Given the description of an element on the screen output the (x, y) to click on. 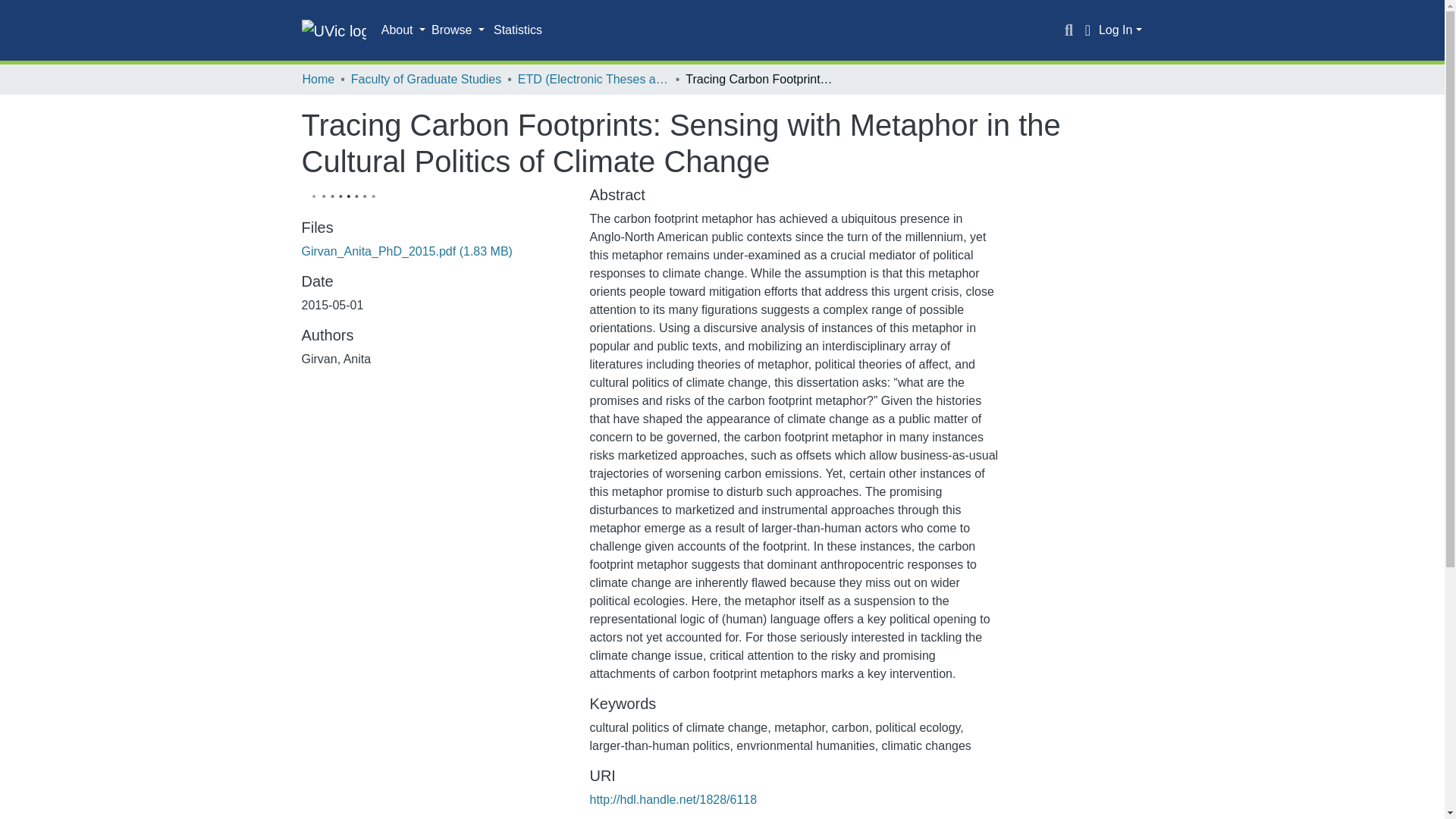
Log In (1119, 29)
Statistics (517, 30)
Statistics (517, 30)
Home (317, 79)
Search (1068, 30)
About (403, 30)
Faculty of Graduate Studies (425, 79)
Language switch (1087, 30)
Browse (457, 30)
